Given the description of an element on the screen output the (x, y) to click on. 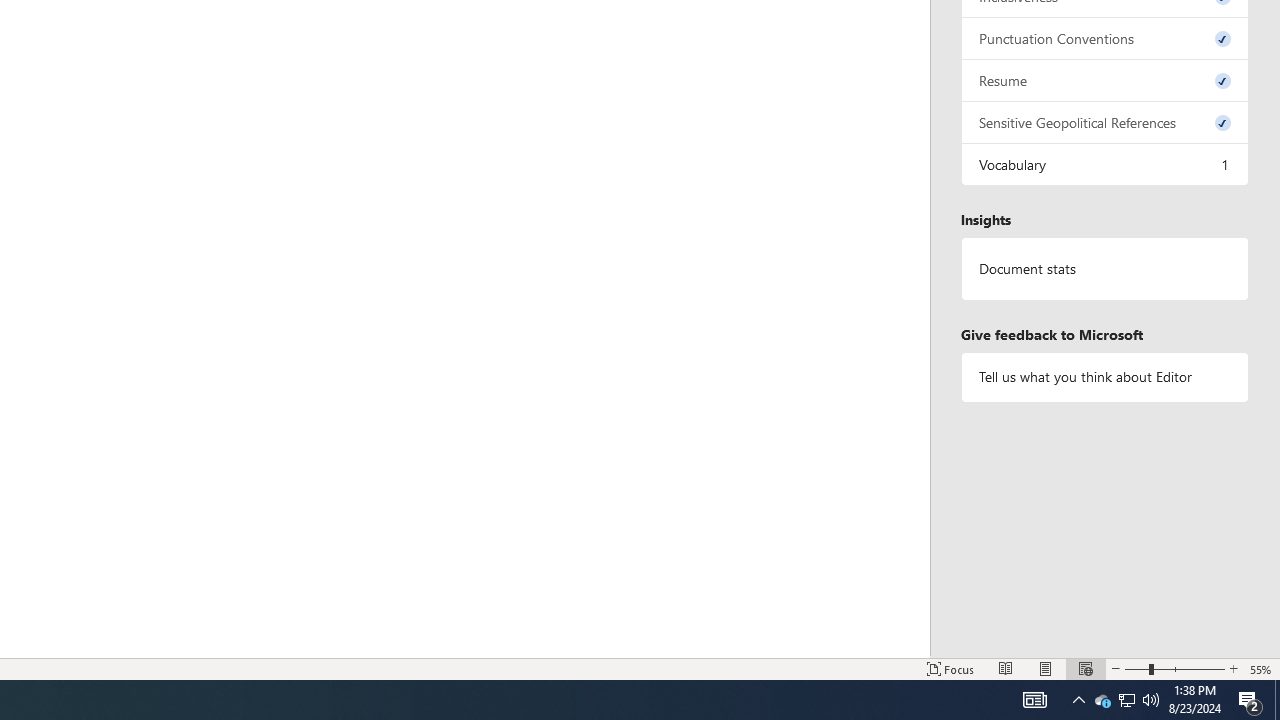
Resume, 0 issues. Press space or enter to review items. (1105, 79)
Zoom 55% (1261, 668)
Vocabulary, 1 issue. Press space or enter to review items. (1105, 164)
Document statistics (1105, 269)
Tell us what you think about Editor (1105, 376)
